Given the description of an element on the screen output the (x, y) to click on. 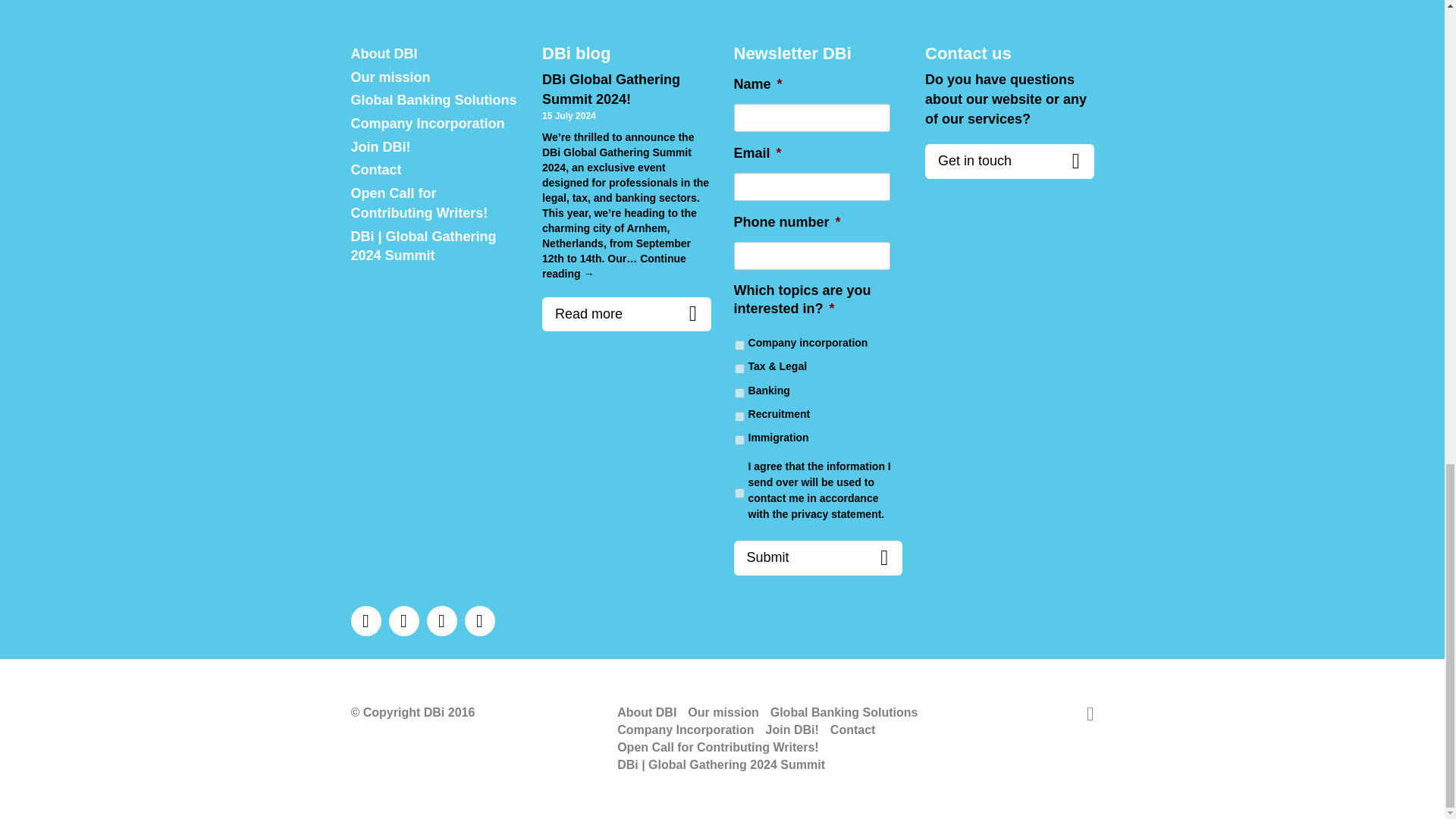
Recruitment (738, 416)
Immigration (738, 439)
Company incorporation (738, 345)
Banking (738, 393)
